Given the description of an element on the screen output the (x, y) to click on. 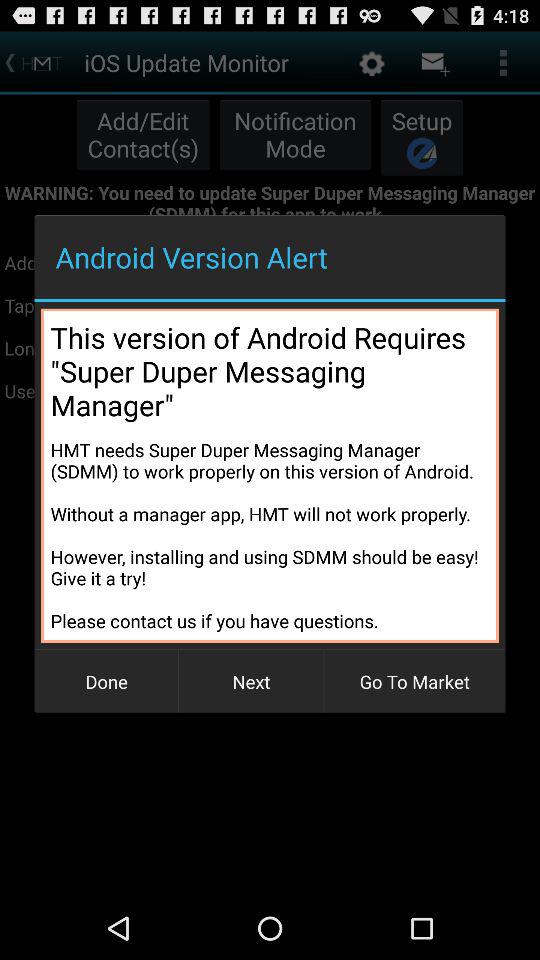
select the button to the right of done (251, 681)
